Given the description of an element on the screen output the (x, y) to click on. 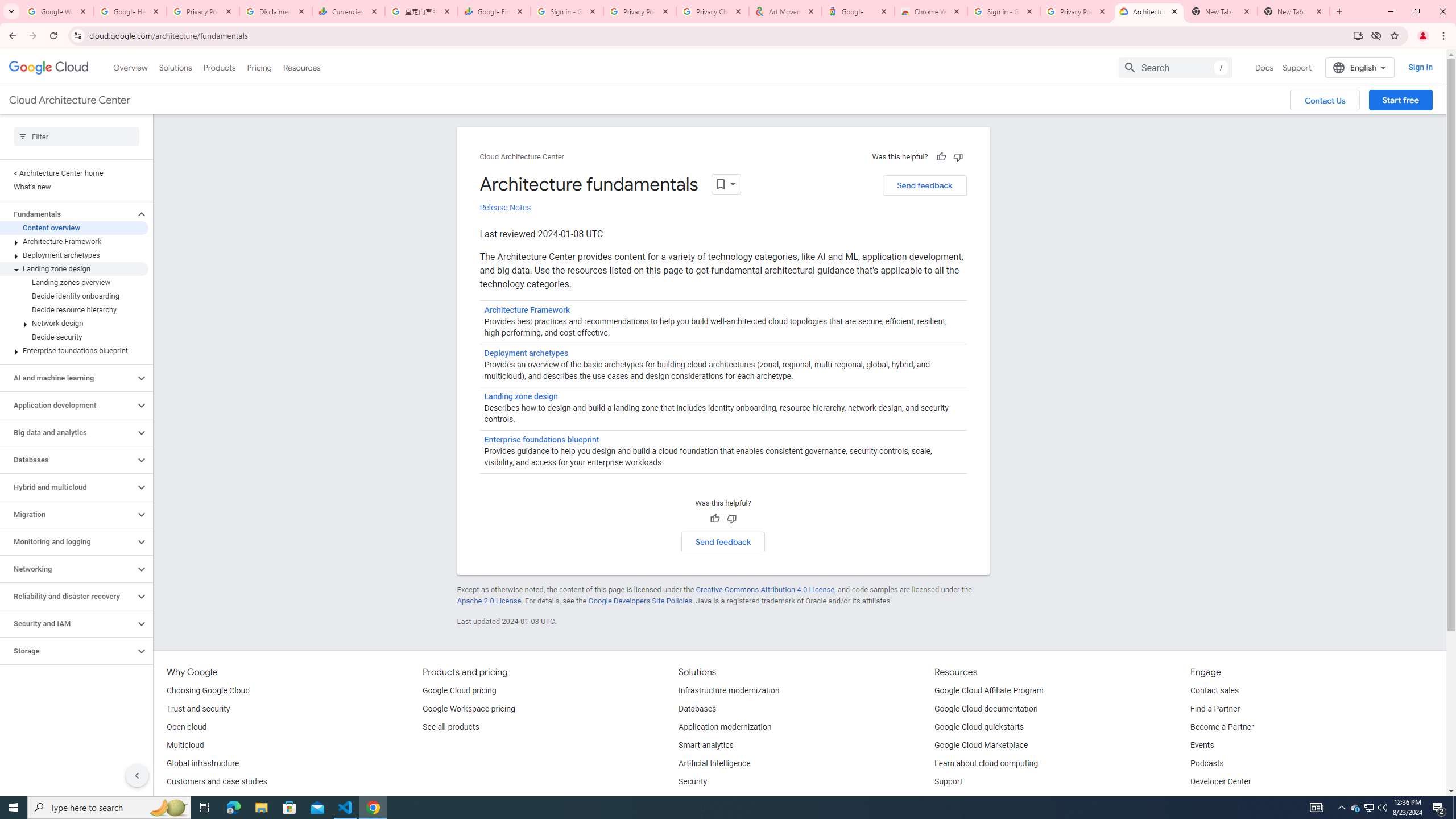
Landing zone design (74, 269)
Contact Us (1324, 100)
Code samples (959, 800)
Landing zones overview (74, 282)
Google Developers Site Policies (639, 600)
Deployment archetypes (525, 353)
See all products (450, 727)
Security and IAM (67, 623)
Release Notes (505, 208)
Creative Commons Attribution 4.0 License (764, 589)
Architecture Framework (526, 310)
Enterprise foundations blueprint (74, 350)
Developer Center (1220, 782)
